Given the description of an element on the screen output the (x, y) to click on. 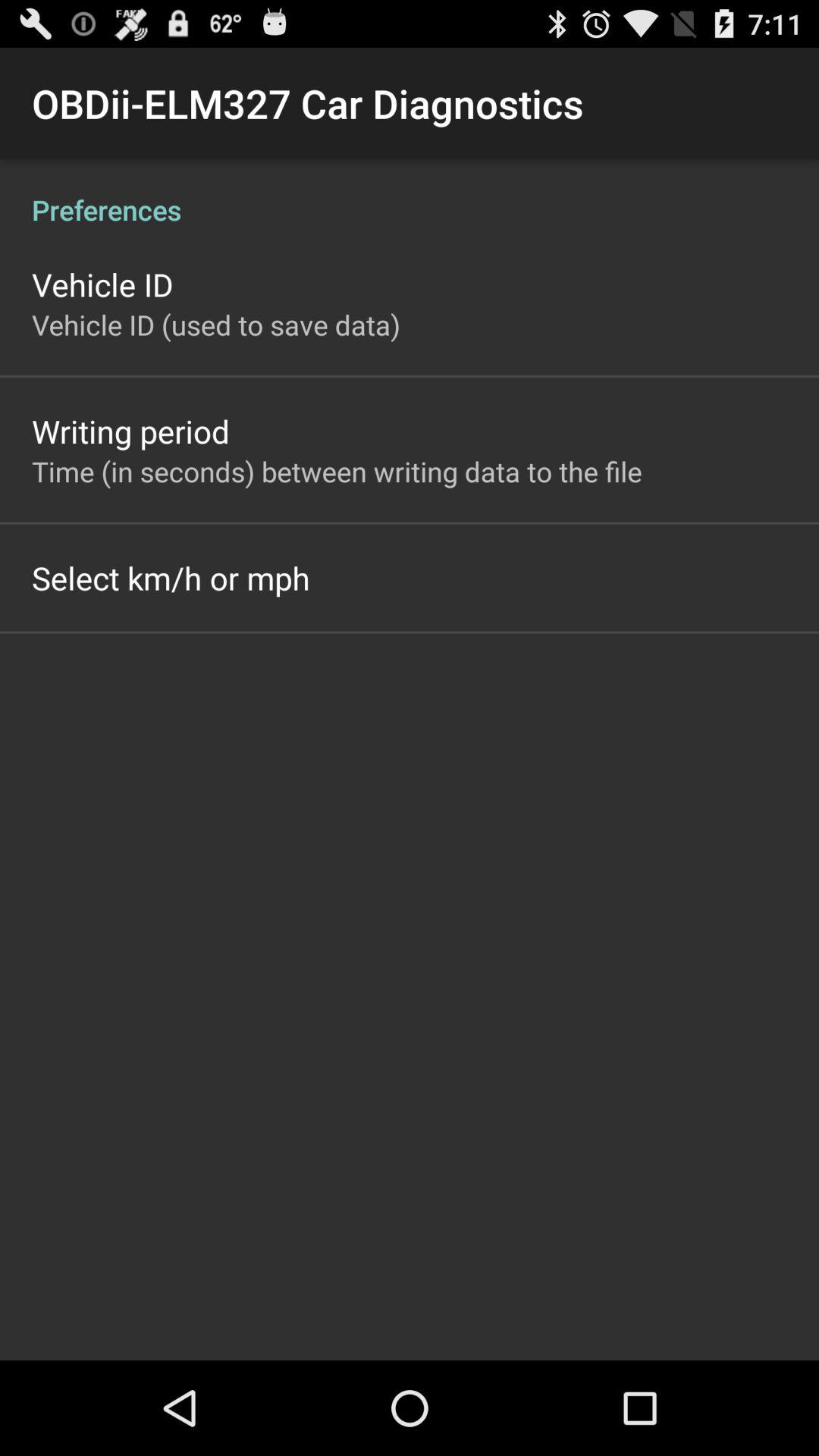
launch icon below the vehicle id used app (130, 430)
